Given the description of an element on the screen output the (x, y) to click on. 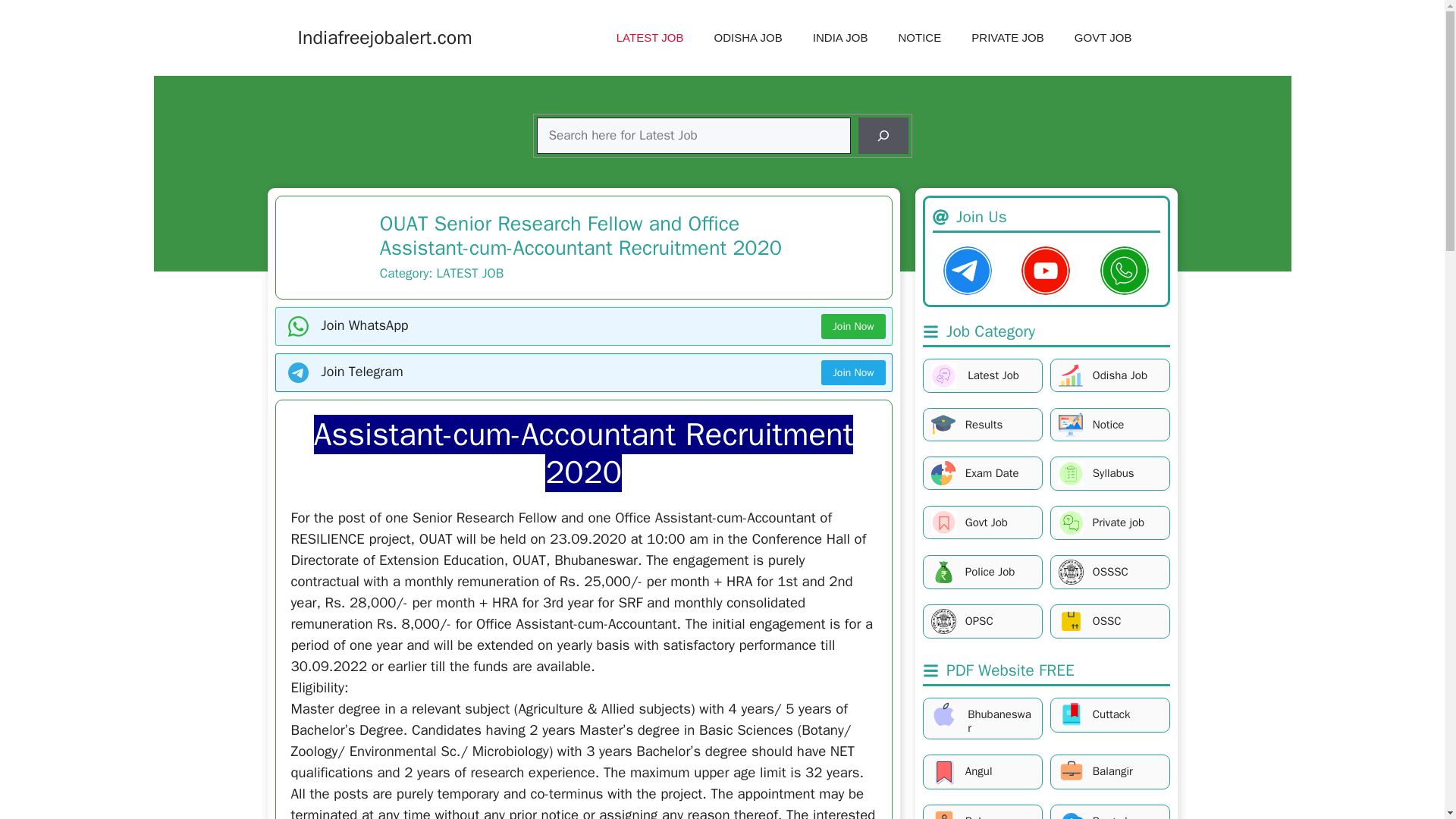
GOVT JOB (1103, 37)
5 (1070, 473)
NOTICE (919, 37)
puzzle (943, 473)
ODISHA JOB (747, 37)
PRIVATE JOB (1007, 37)
Telegram (967, 270)
growth (1070, 375)
INDIA JOB (840, 37)
Indiafreejobalert.com (384, 37)
